Given the description of an element on the screen output the (x, y) to click on. 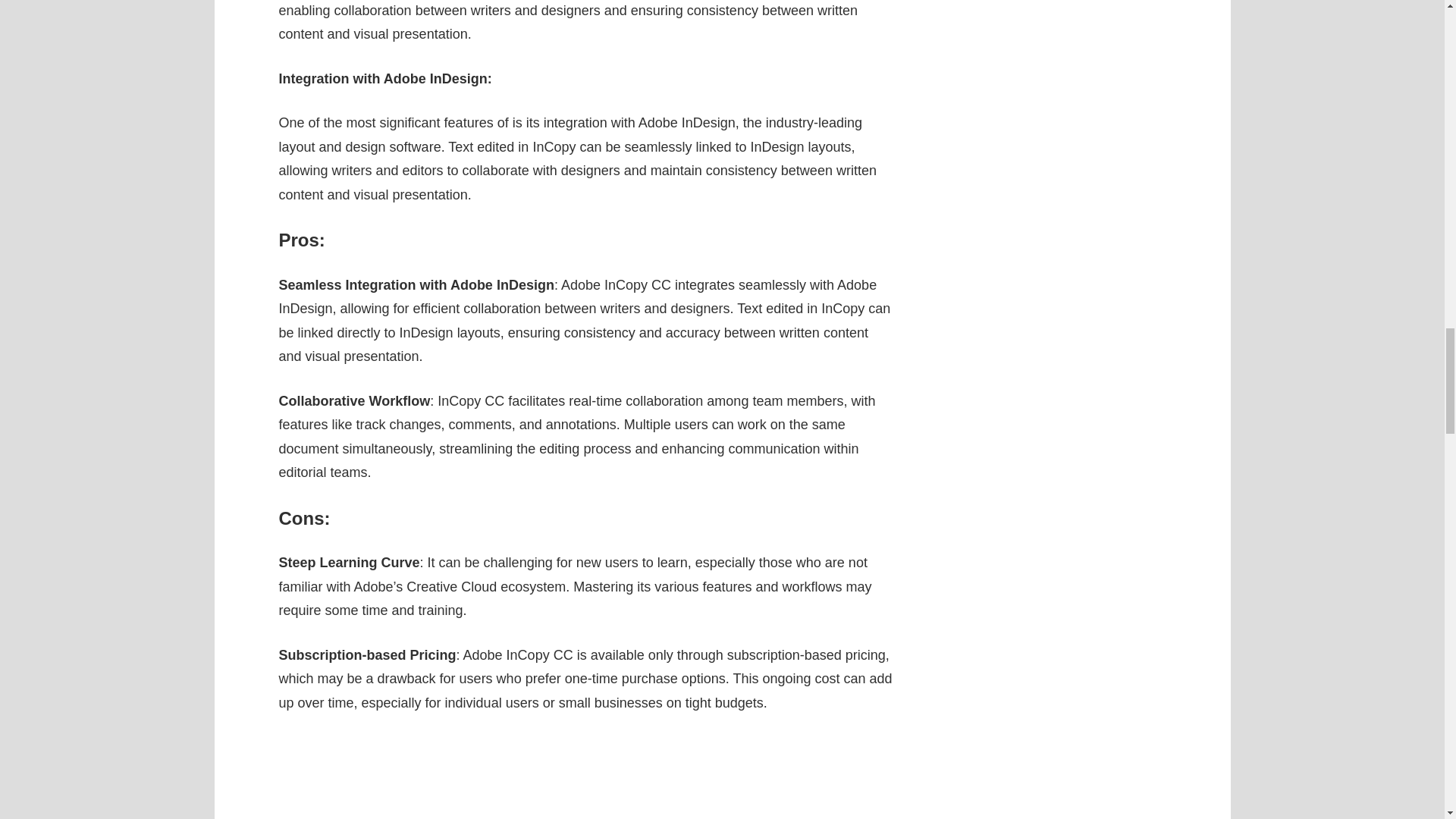
Adobe InCopy CC  (584, 777)
